Given the description of an element on the screen output the (x, y) to click on. 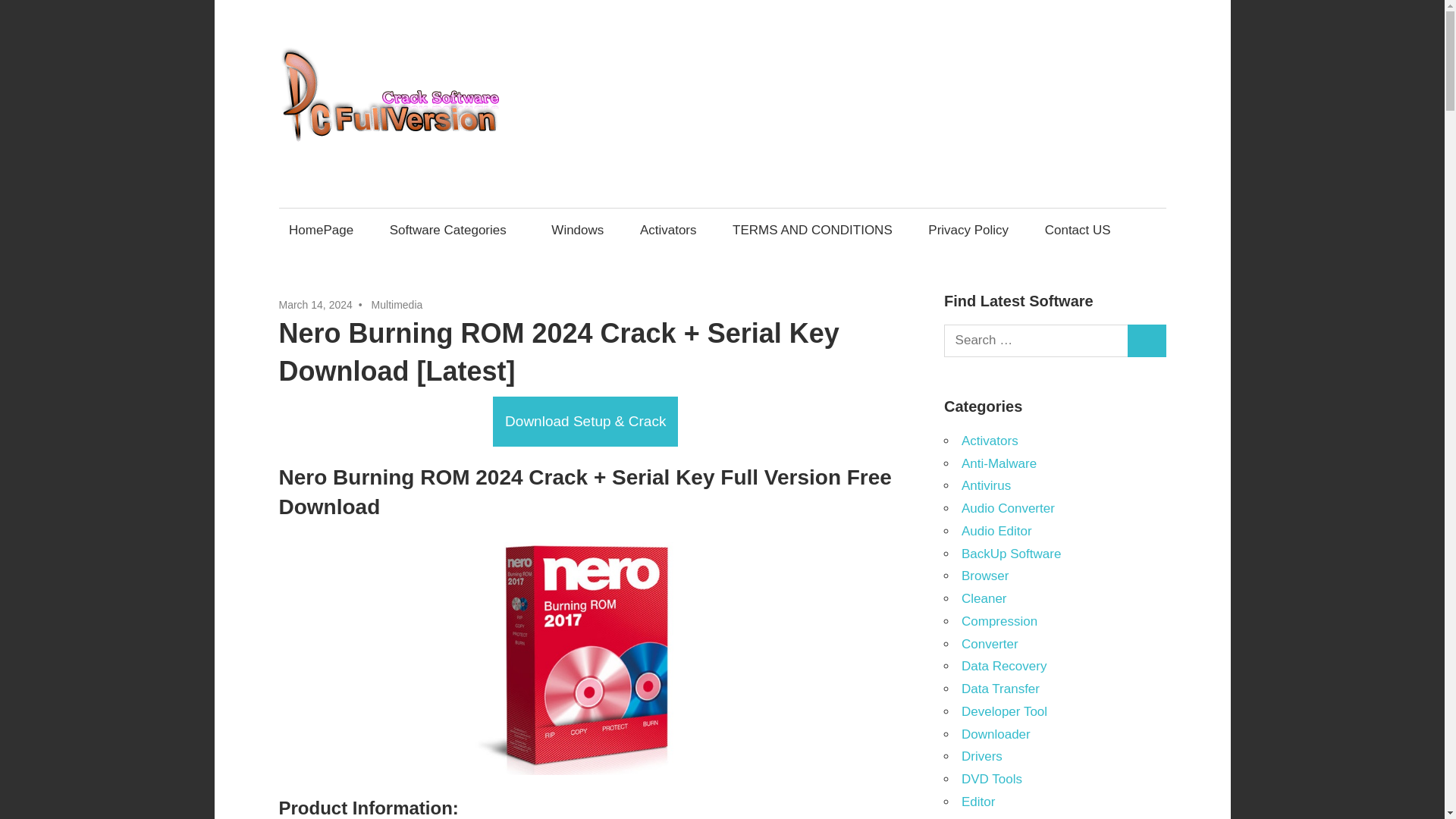
Privacy Policy (968, 230)
March 14, 2024 (315, 304)
Activators (667, 230)
2:32 am (315, 304)
Contact US (1077, 230)
TERMS AND CONDITIONS (812, 230)
Multimedia (397, 304)
HomePage (321, 230)
Software Categories (451, 230)
Windows (577, 230)
